Given the description of an element on the screen output the (x, y) to click on. 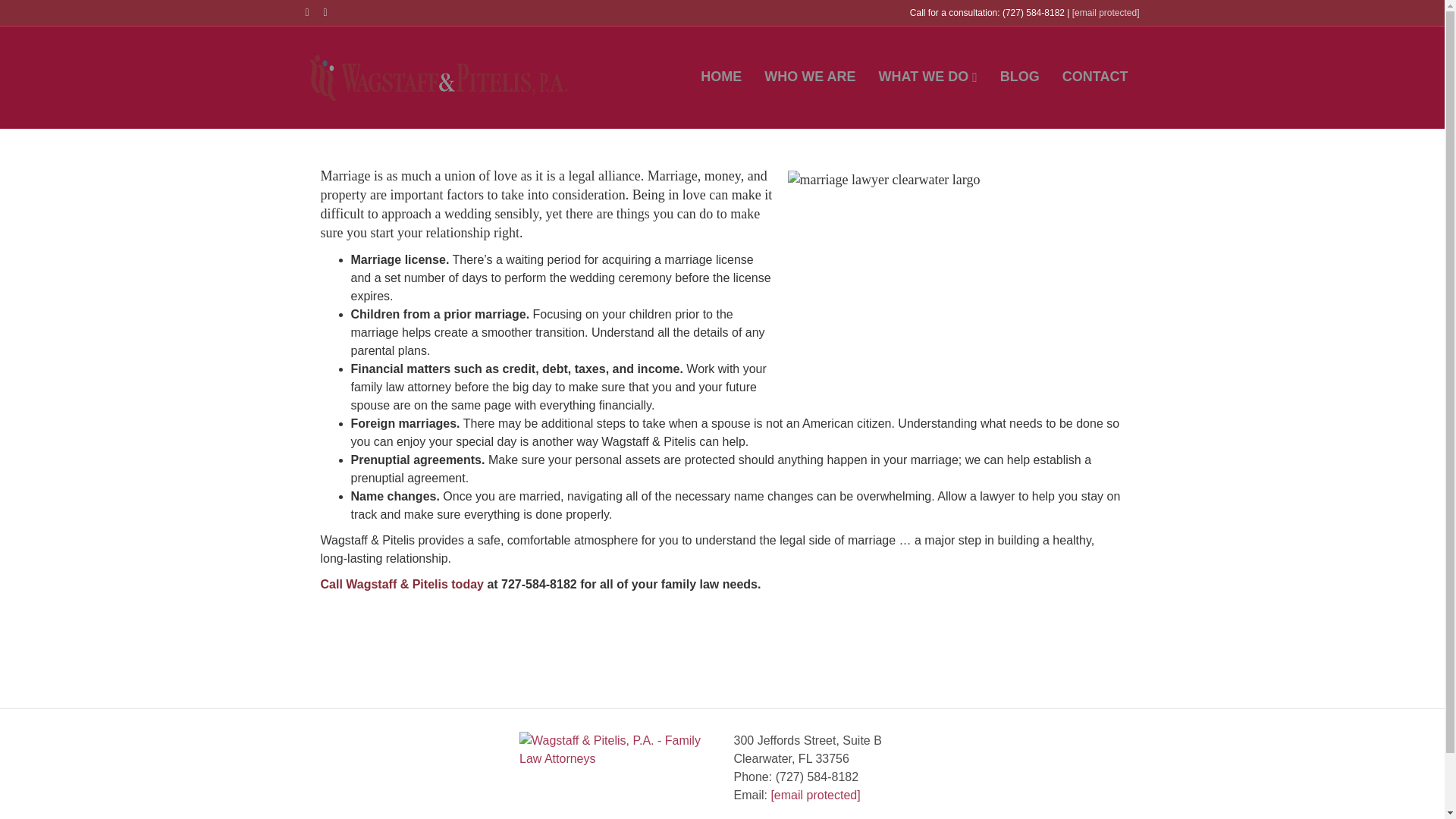
BLOG (1019, 76)
Facebook (313, 11)
HOME (720, 76)
WHO WE ARE (809, 76)
CONTACT (1095, 76)
Linkedin (331, 11)
WHAT WE DO (927, 77)
